Given the description of an element on the screen output the (x, y) to click on. 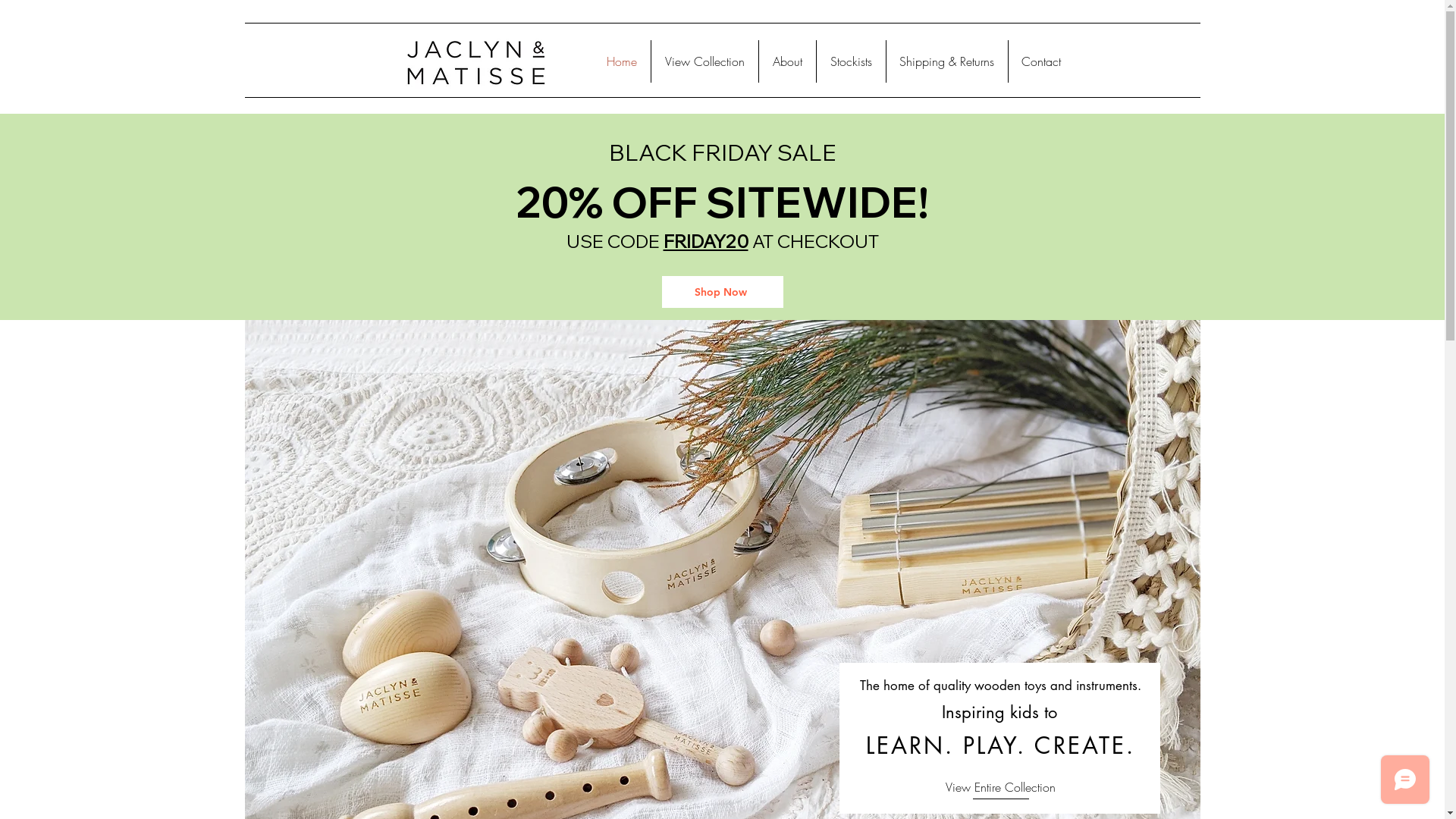
View Entire Collection Element type: text (999, 786)
Stockists Element type: text (849, 61)
Home Element type: text (621, 61)
Shop Now Element type: text (721, 291)
About Element type: text (786, 61)
Shipping & Returns Element type: text (946, 61)
View Collection Element type: text (703, 61)
Contact Element type: text (1041, 61)
